Given the description of an element on the screen output the (x, y) to click on. 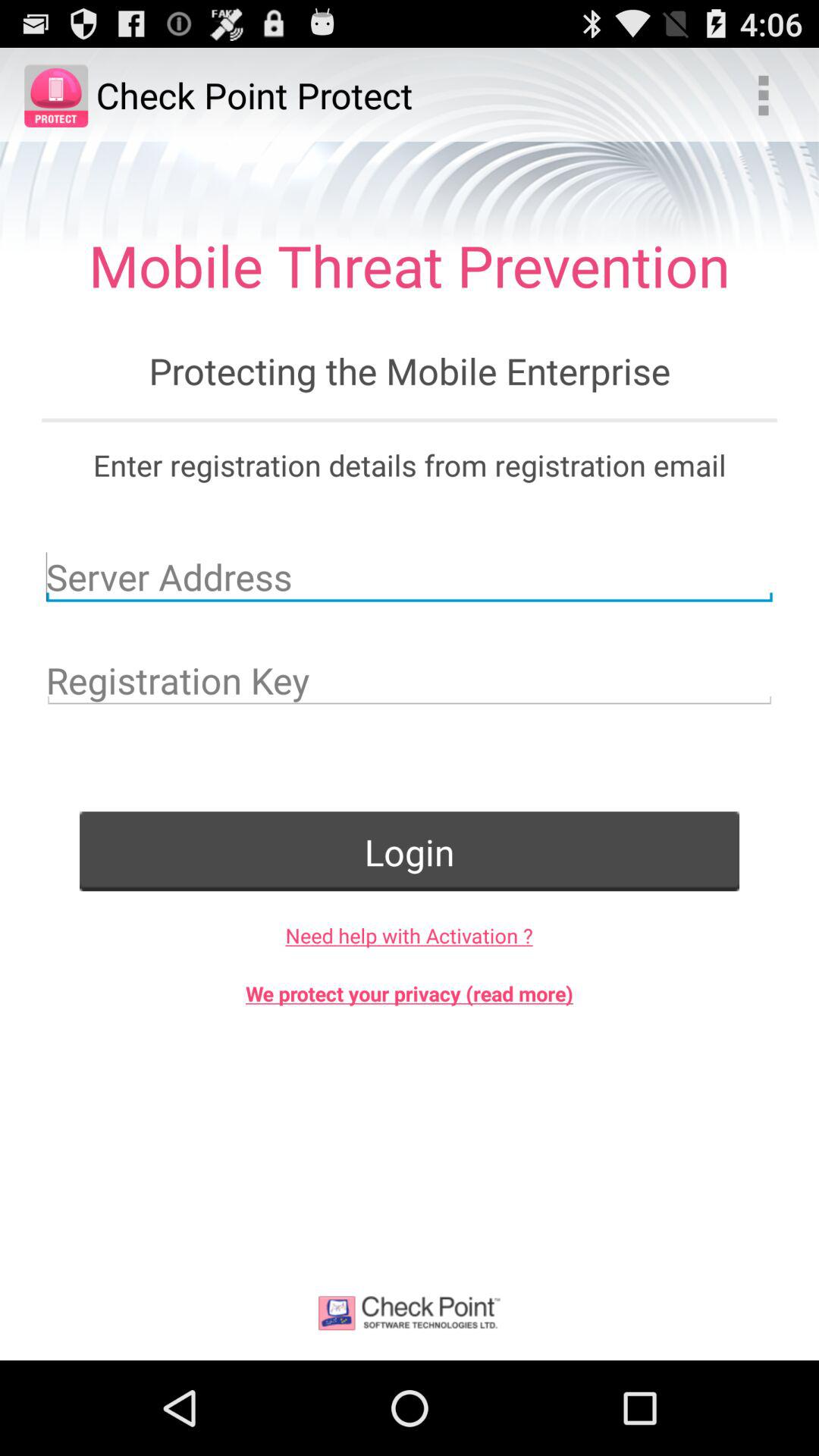
server address (409, 576)
